Given the description of an element on the screen output the (x, y) to click on. 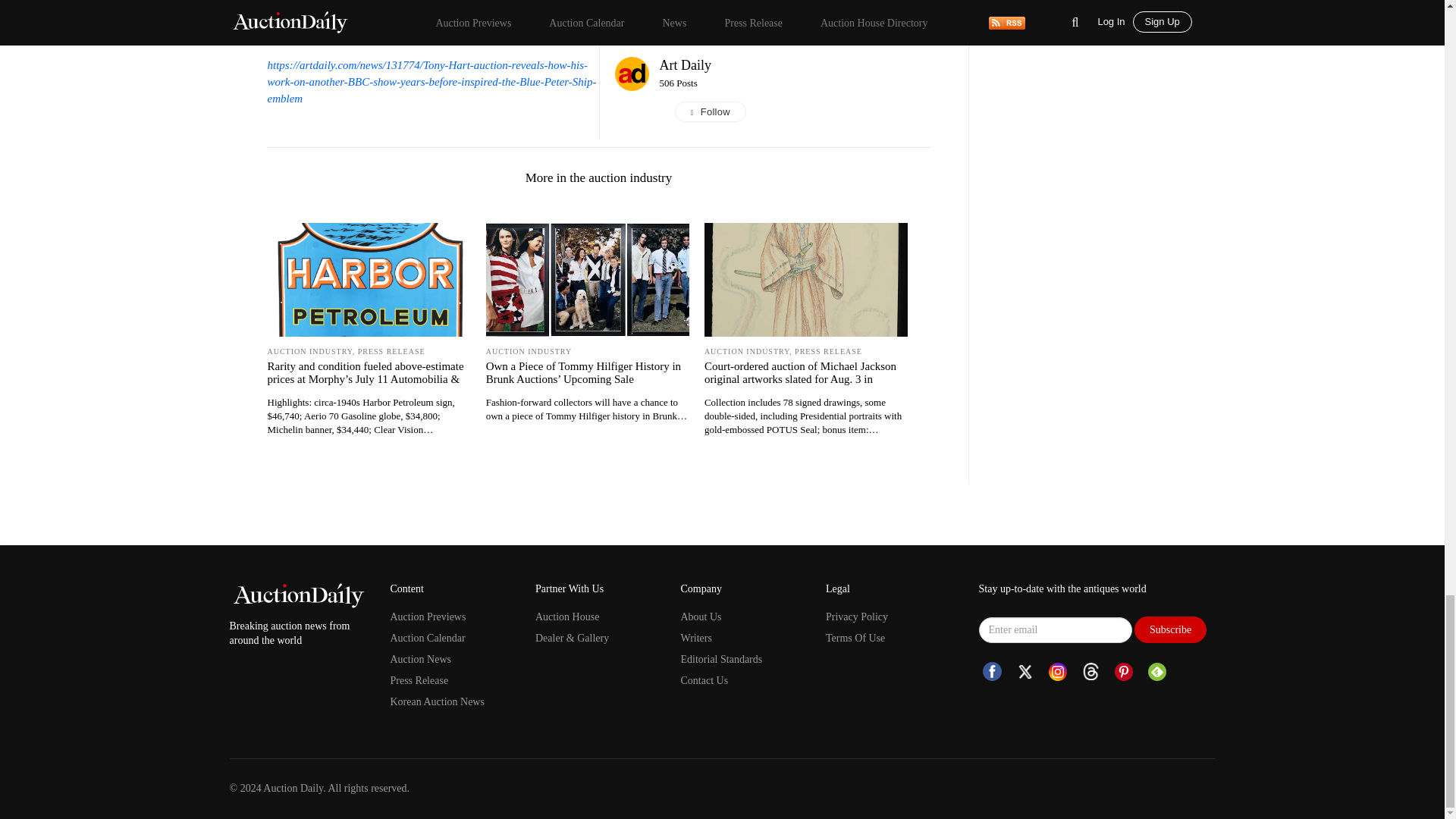
Subscribe (1170, 629)
Follow (795, 112)
Art Daily (685, 64)
View Media Source (685, 64)
